Given the description of an element on the screen output the (x, y) to click on. 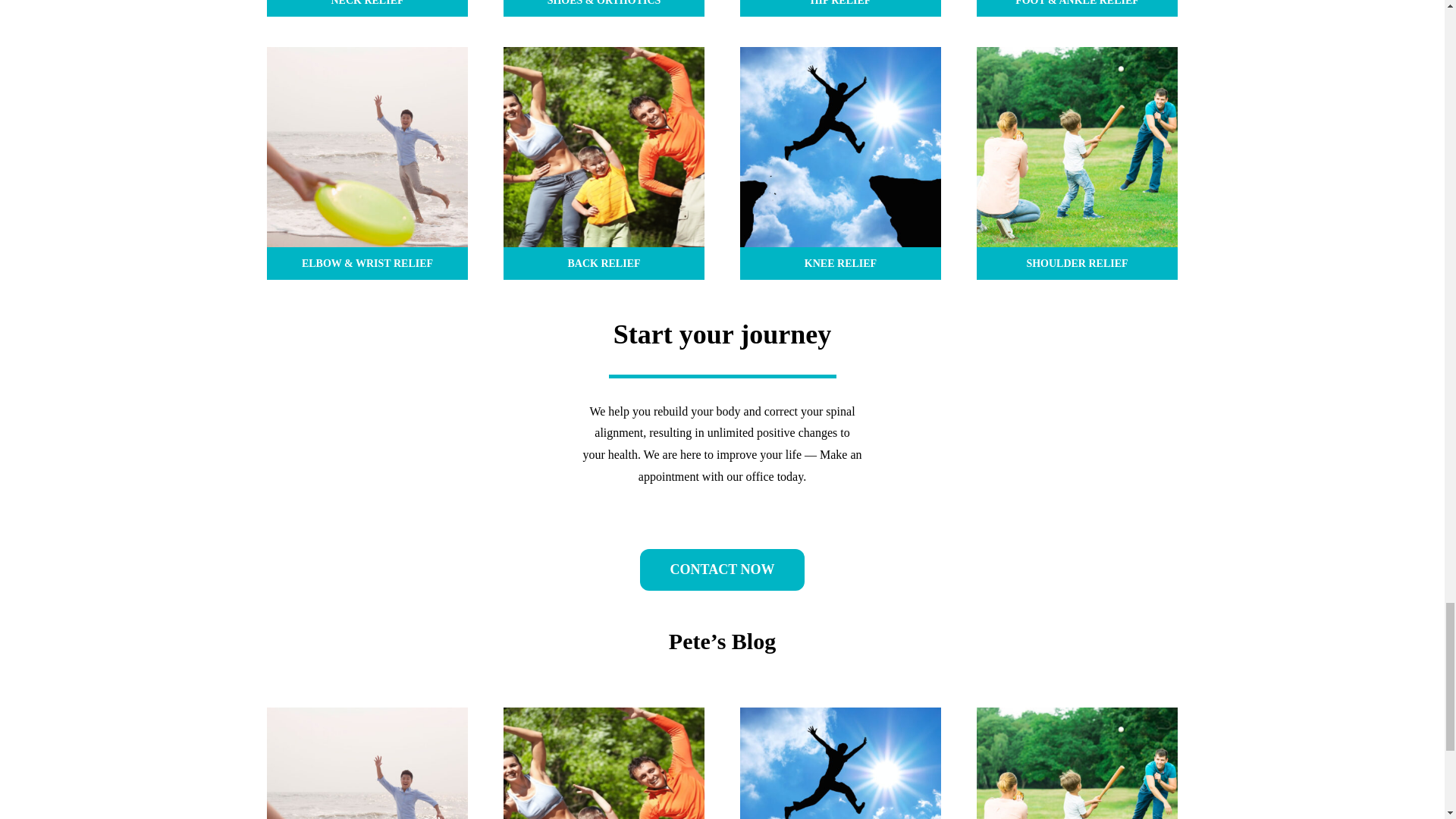
bbb (603, 146)
Pete-4 (366, 763)
bbb (603, 763)
Pete-4 (366, 146)
Pete-7 (1076, 146)
Pete-6 (839, 146)
